Given the description of an element on the screen output the (x, y) to click on. 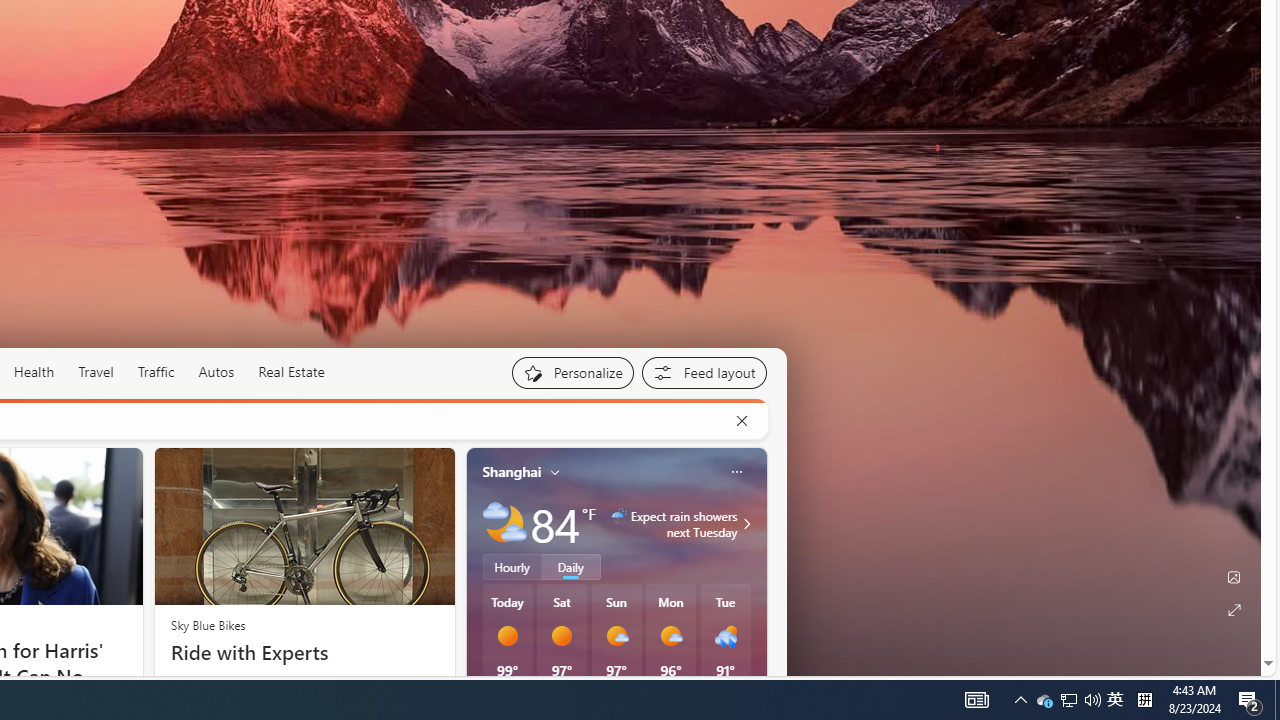
Feed settings (703, 372)
Autos (215, 371)
Class: weather-arrow-glyph (746, 523)
Cancel (741, 421)
Health (33, 372)
Mostly sunny (670, 636)
Edit Background (1233, 577)
Personalize your feed" (571, 372)
Class: icon-img (736, 471)
Partly cloudy (504, 523)
Expect rain showers next Tuesday (744, 523)
